Given the description of an element on the screen output the (x, y) to click on. 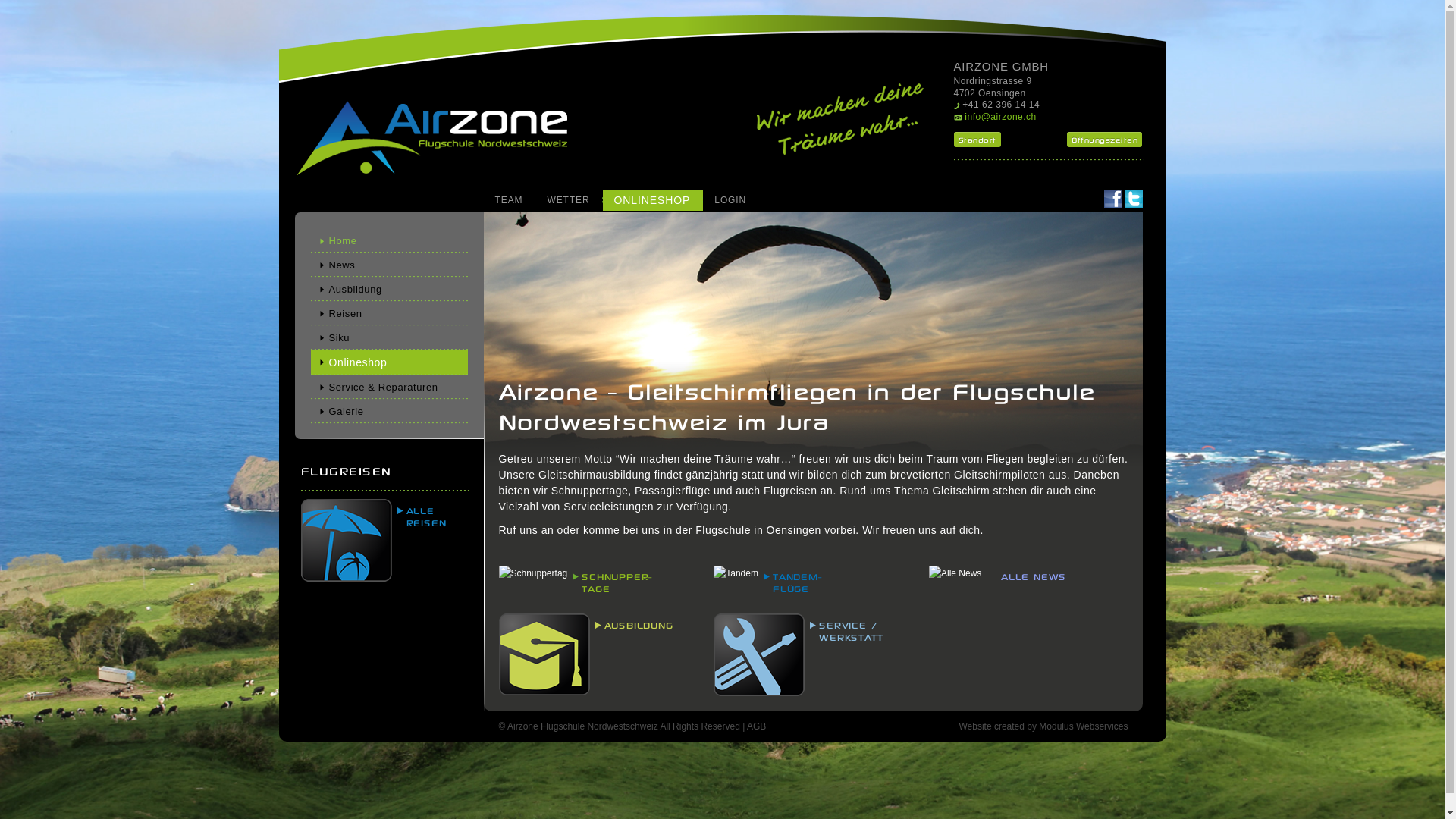
Ausbildung Element type: text (393, 288)
Alle News Element type: hover (954, 572)
Home Element type: text (393, 240)
News Element type: text (393, 264)
Galerie Element type: text (393, 410)
Onlineshop Element type: text (393, 362)
Siku Element type: text (393, 337)
Gleitschirm Sonnenuntergang Element type: hover (813, 386)
Schnuppertag Element type: hover (532, 572)
Reisen Element type: text (393, 313)
info@airzone.ch Element type: text (999, 116)
AGB Element type: text (755, 726)
TEAM Element type: text (508, 199)
ONLINESHOP Element type: text (652, 199)
Website created by Modulus Webservices Element type: text (1042, 726)
Ausbildung Element type: hover (543, 654)
Alle Reisen Element type: hover (345, 539)
Tandem Element type: hover (735, 572)
Service & Reparaturen Element type: text (393, 386)
Standort Element type: text (977, 139)
WETTER Element type: text (567, 199)
Service / Werkstatt Element type: hover (758, 654)
LOGIN Element type: text (730, 199)
